Given the description of an element on the screen output the (x, y) to click on. 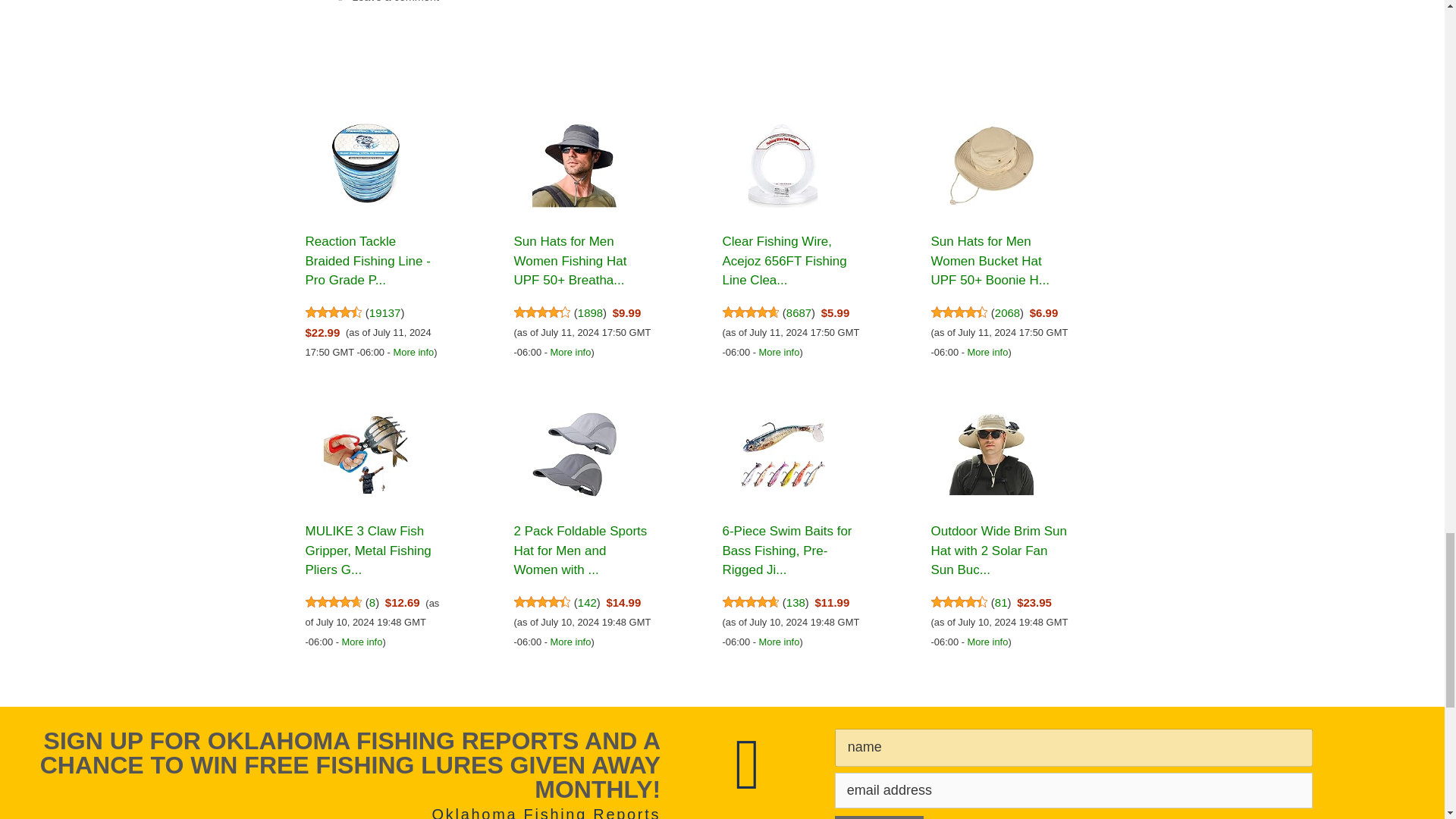
Reaction Tackle Braided Fishing Line - Pro Grade P...:  (365, 167)
Subscribe (879, 817)
Clear Fishing Wire, Acejoz 656FT Fishing Line Clea...:  (782, 167)
Clear Fishing Wire, Acejoz 656FT Fishing Line Clea...:  (783, 260)
Reaction Tackle Braided Fishing Line - Pro Grade P...:  (366, 260)
